Given the description of an element on the screen output the (x, y) to click on. 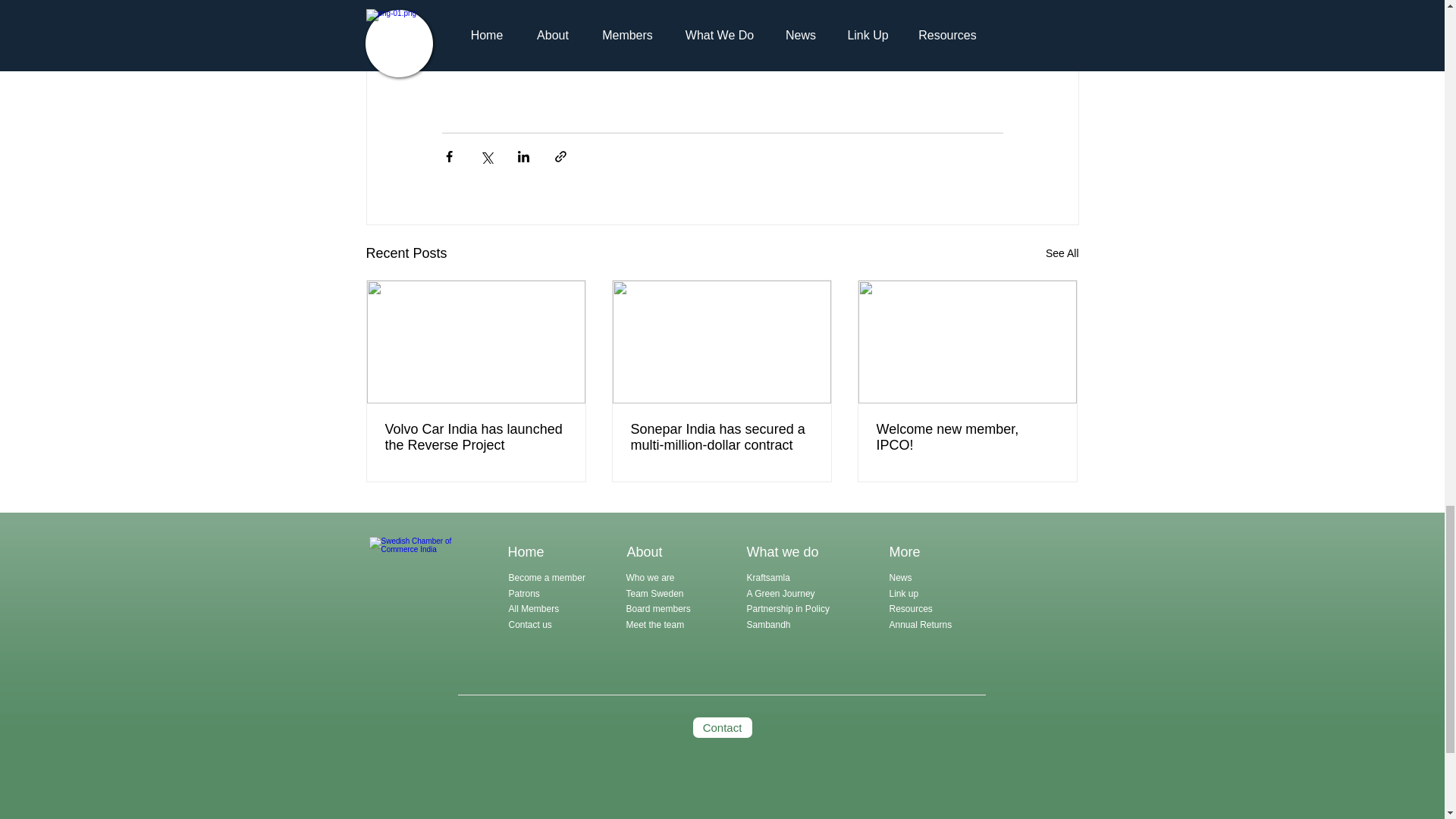
Kraftsamla (767, 577)
About (644, 551)
Volvo Car India has launched the Reverse Project (476, 437)
All Members  (534, 608)
Patrons (523, 593)
A Green Journey  (780, 593)
Contact us (529, 624)
Partnership in Policy (786, 608)
See All (1061, 253)
Meet the team (655, 624)
Board members (658, 608)
Team Sweden (655, 593)
Welcome new member, IPCO! (967, 437)
Sonepar India has secured a multi-million-dollar contract (721, 437)
Home (526, 551)
